Given the description of an element on the screen output the (x, y) to click on. 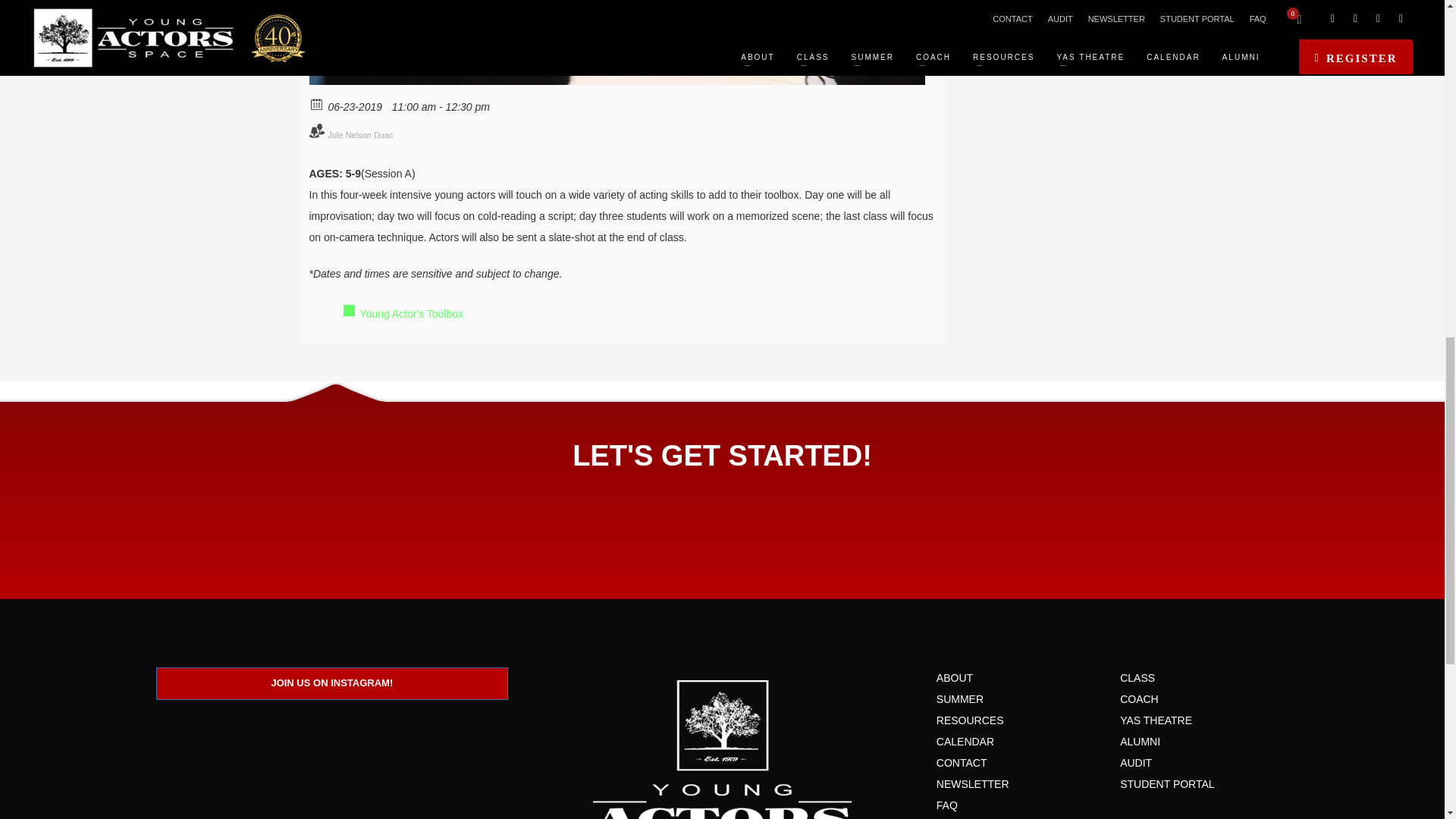
Date (316, 102)
JOIN US ON INSTAGRAM! (331, 683)
Organizers (1112, 783)
